Given the description of an element on the screen output the (x, y) to click on. 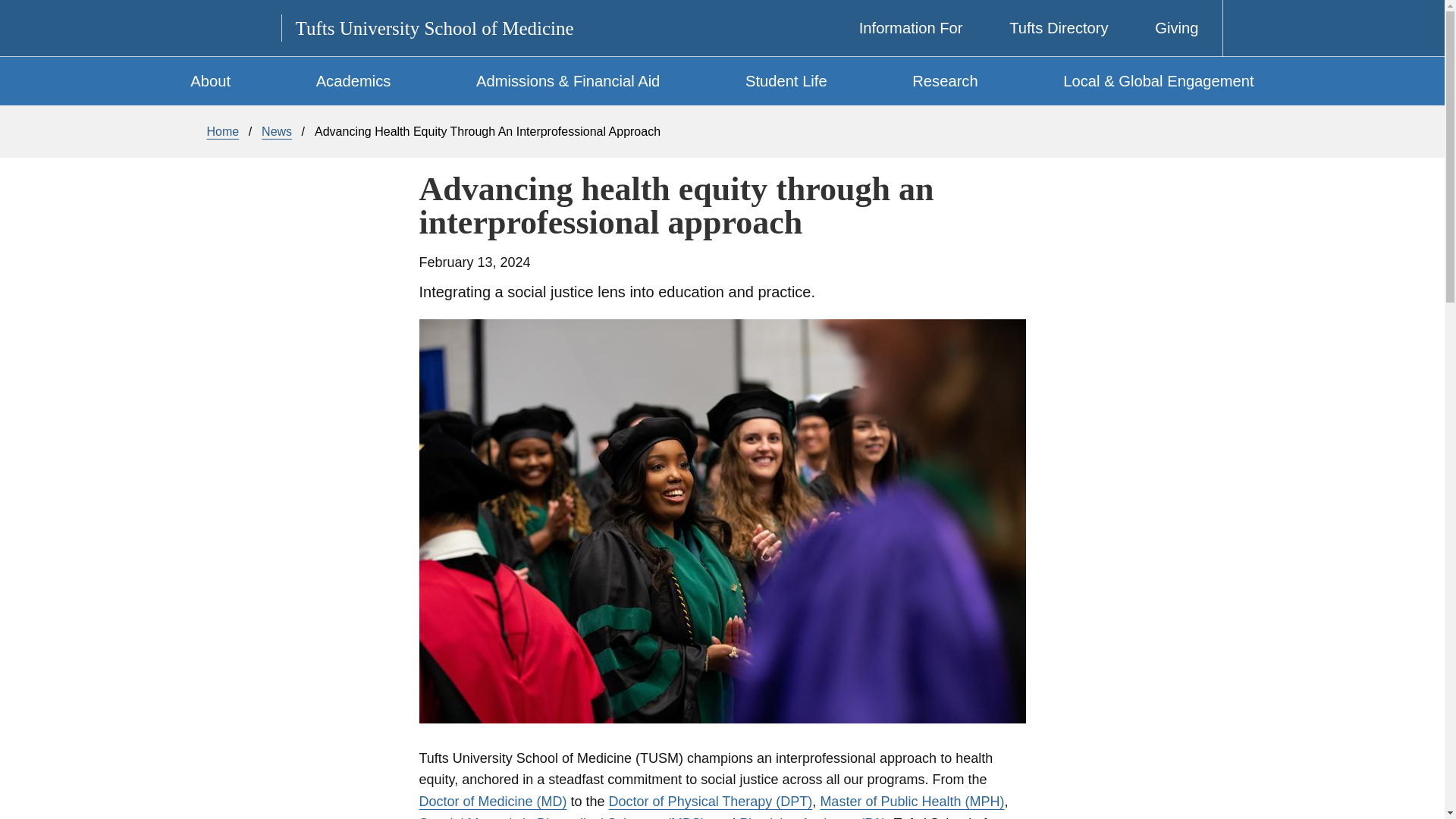
Master of Public Health Program (911, 801)
Skip to main content (737, 4)
Physician Assistant Program (812, 817)
Information For (899, 28)
About (210, 80)
Tufts University School of Medicine (434, 28)
Academics (352, 80)
Tufts Directory (1048, 28)
Giving (1166, 28)
Doctor of Physical Therapy Program (710, 801)
